Given the description of an element on the screen output the (x, y) to click on. 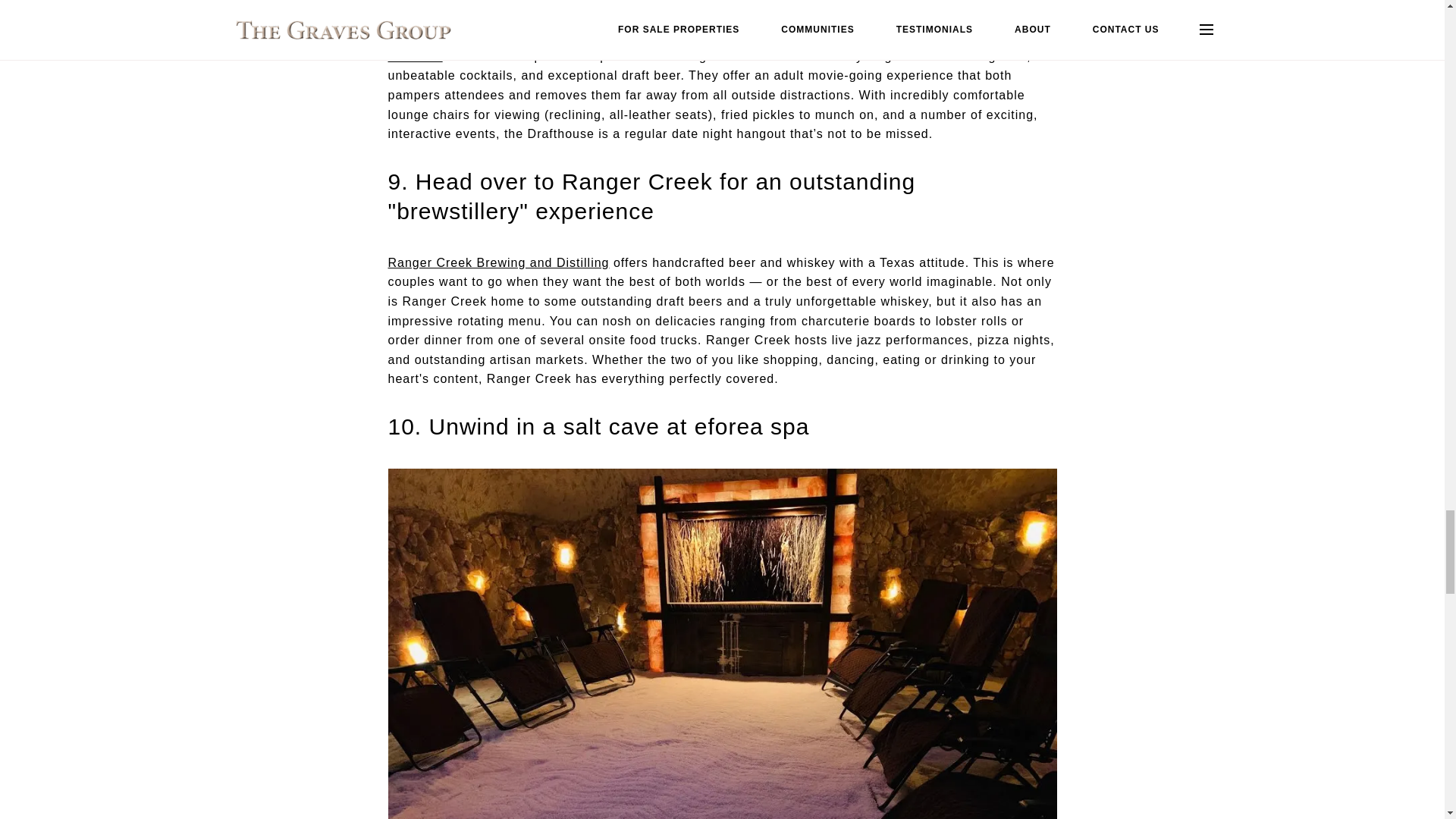
Alamo Drafthouse Cinema locations (700, 46)
Ranger Creek Brewing and Distilling (499, 262)
